Given the description of an element on the screen output the (x, y) to click on. 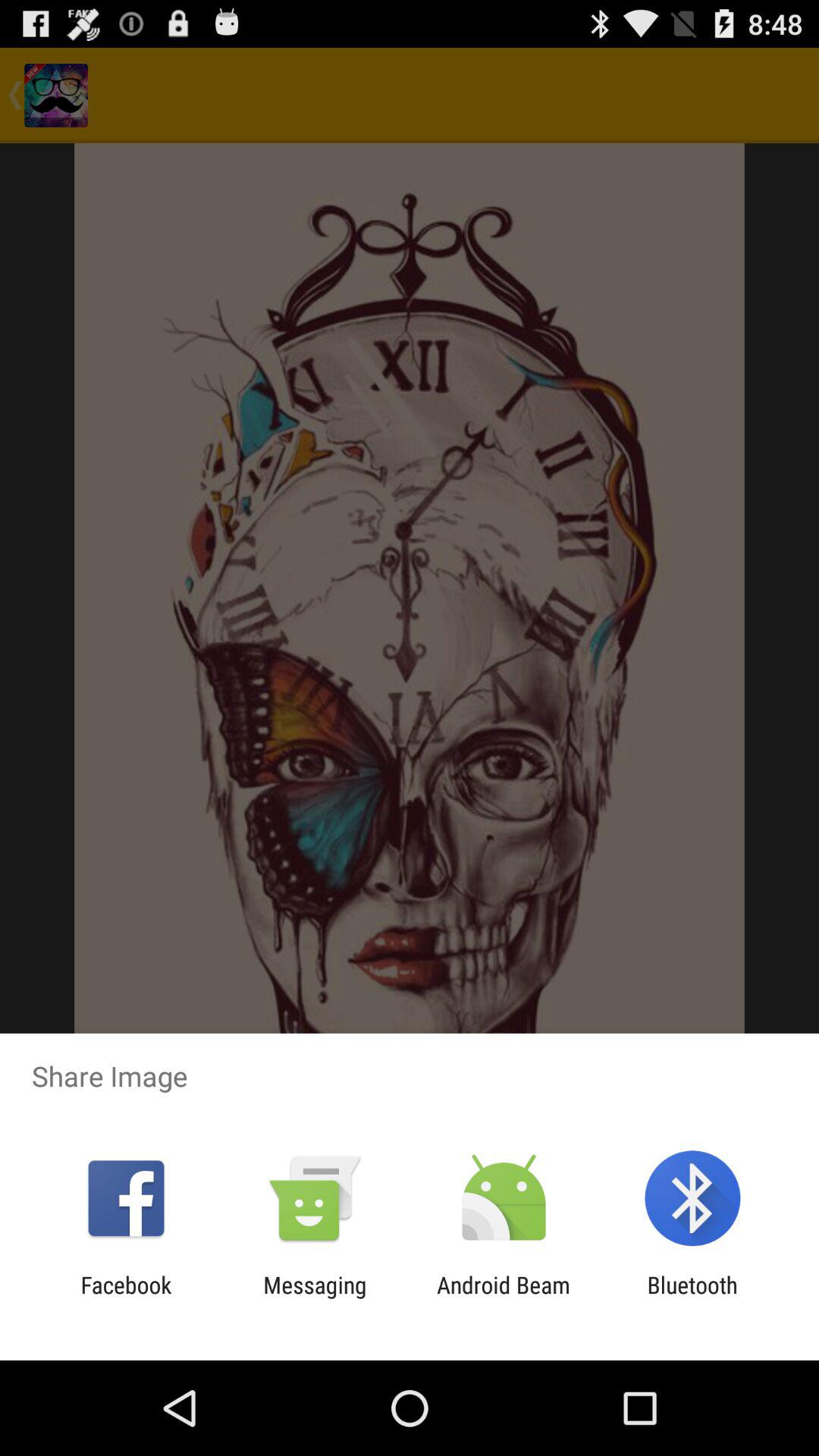
select the facebook app (125, 1298)
